Given the description of an element on the screen output the (x, y) to click on. 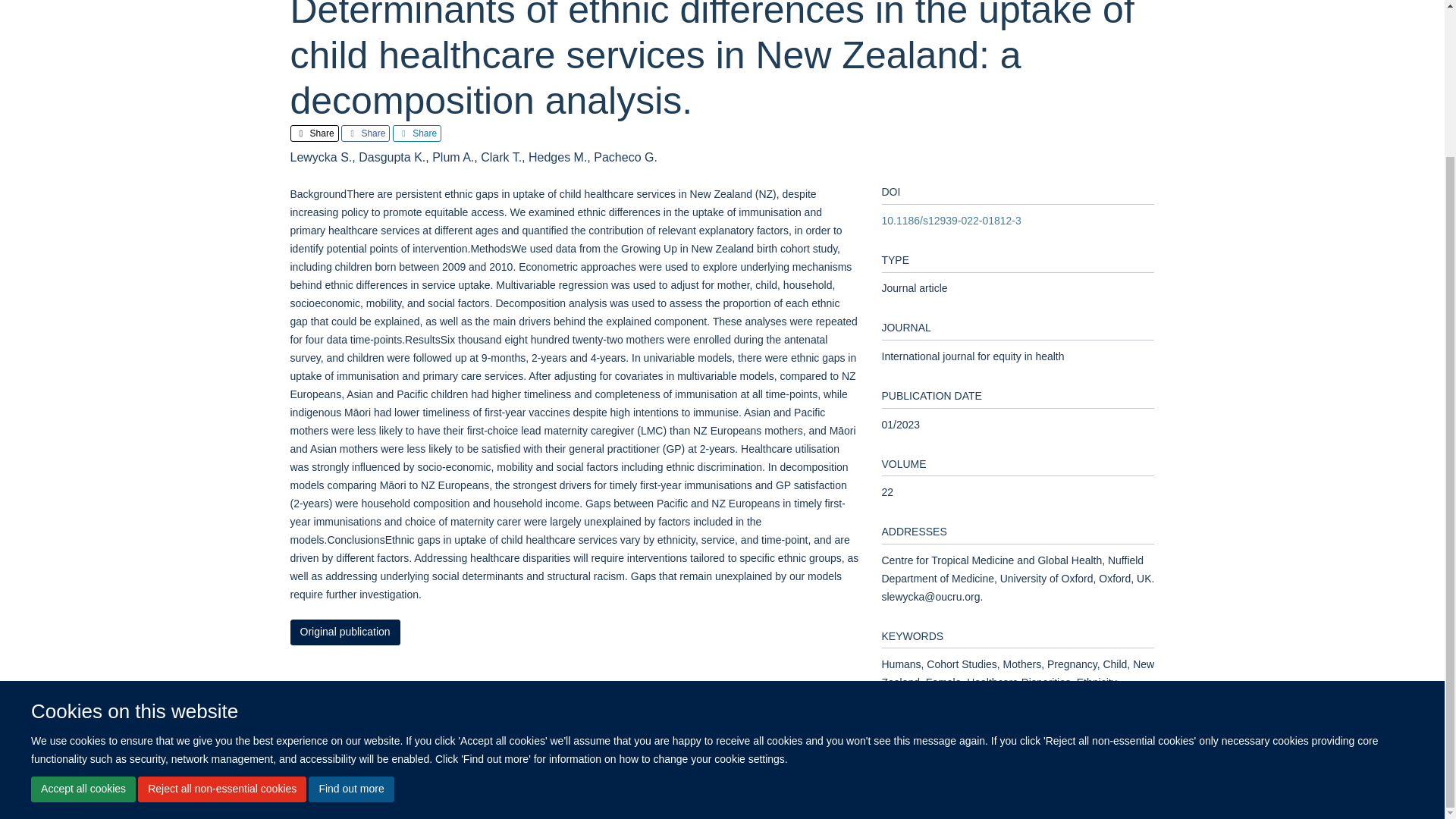
Reject all non-essential cookies (221, 606)
Find out more (350, 606)
Accept all cookies (82, 606)
